Given the description of an element on the screen output the (x, y) to click on. 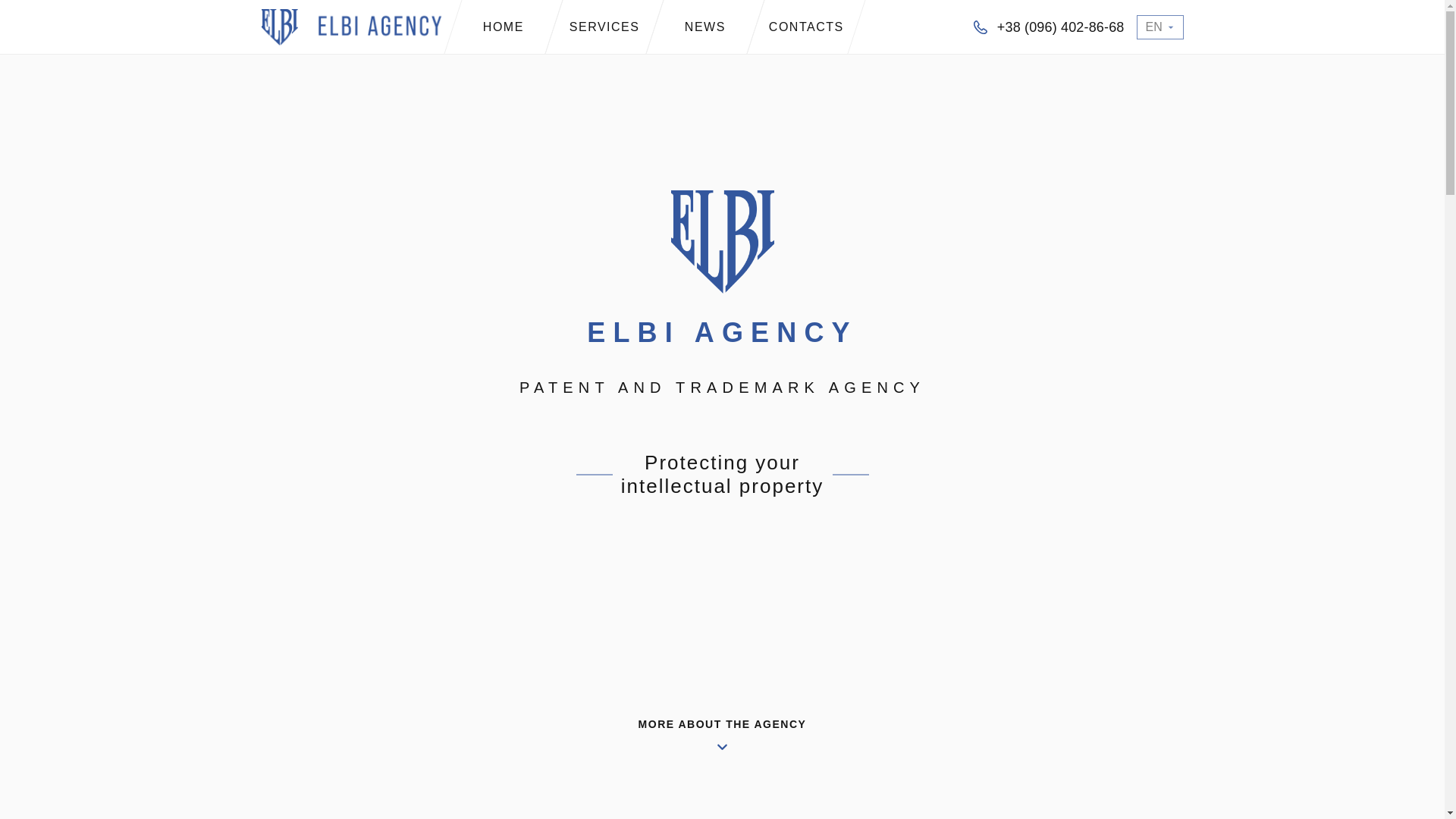
MORE ABOUT THE AGENCY (722, 709)
SERVICES (595, 27)
HOME (494, 27)
CONTACTS (796, 27)
NEWS (695, 27)
